Given the description of an element on the screen output the (x, y) to click on. 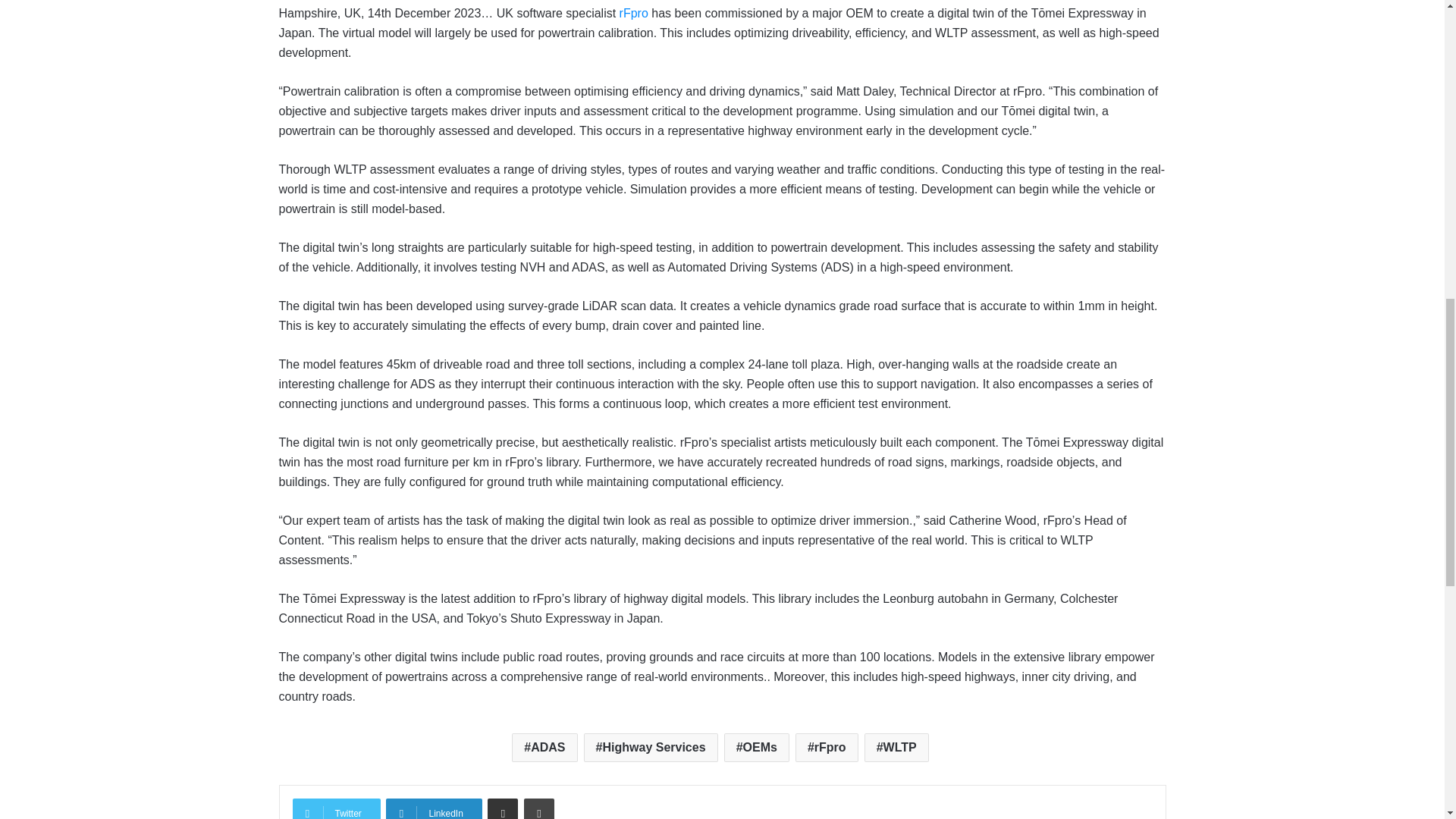
Share via Email (502, 808)
Twitter (336, 808)
Print (539, 808)
LinkedIn (433, 808)
